Given the description of an element on the screen output the (x, y) to click on. 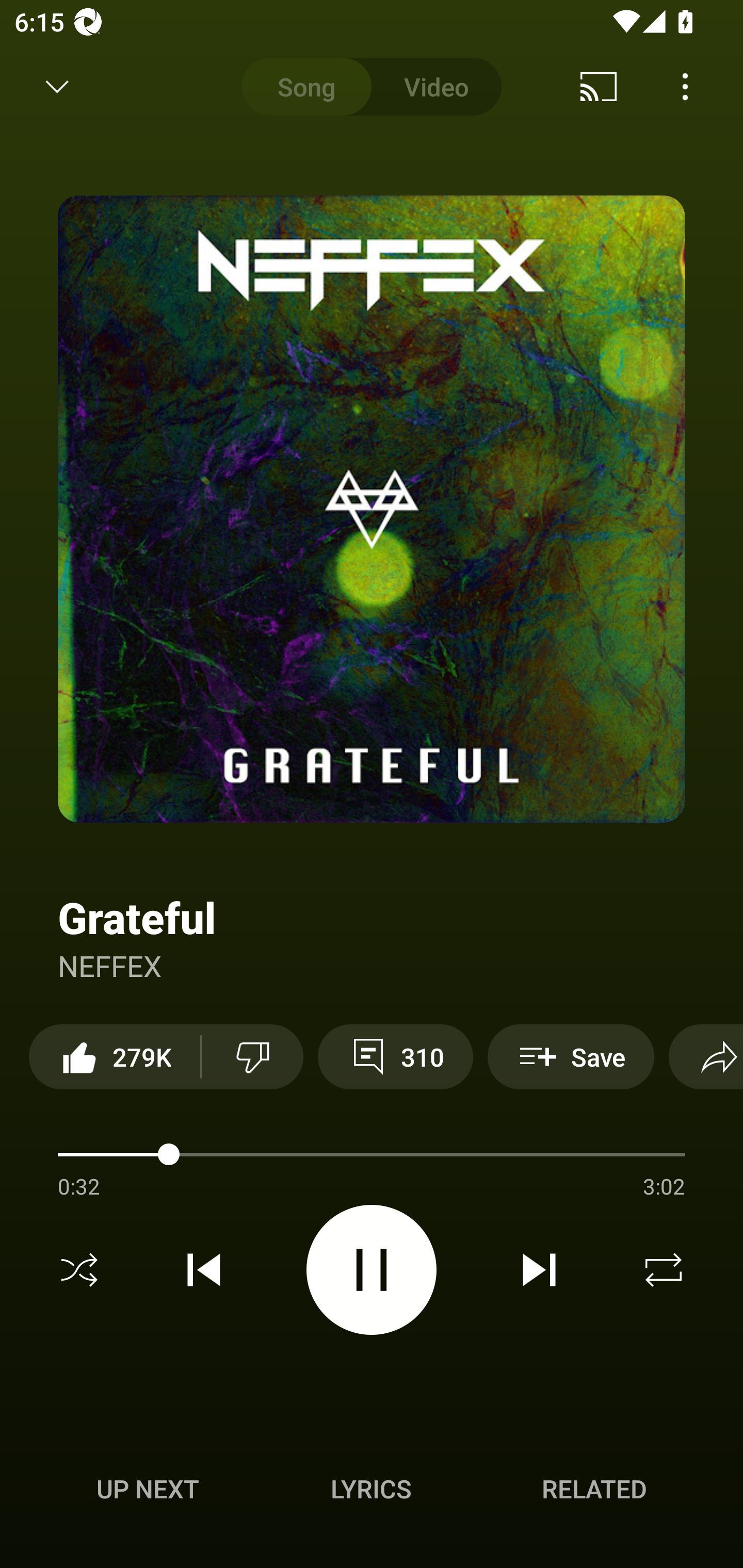
Minimize (57, 86)
Cast. Disconnected (598, 86)
Menu (684, 86)
Dislike (252, 1056)
310 View 310 comments (395, 1056)
Save Save to playlist (570, 1056)
Share (705, 1056)
Pause video (371, 1269)
Shuffle off (79, 1269)
Previous track (203, 1269)
Next track (538, 1269)
Repeat off (663, 1269)
Up next UP NEXT Lyrics LYRICS Related RELATED (371, 1491)
Lyrics LYRICS (370, 1488)
Related RELATED (594, 1488)
